Given the description of an element on the screen output the (x, y) to click on. 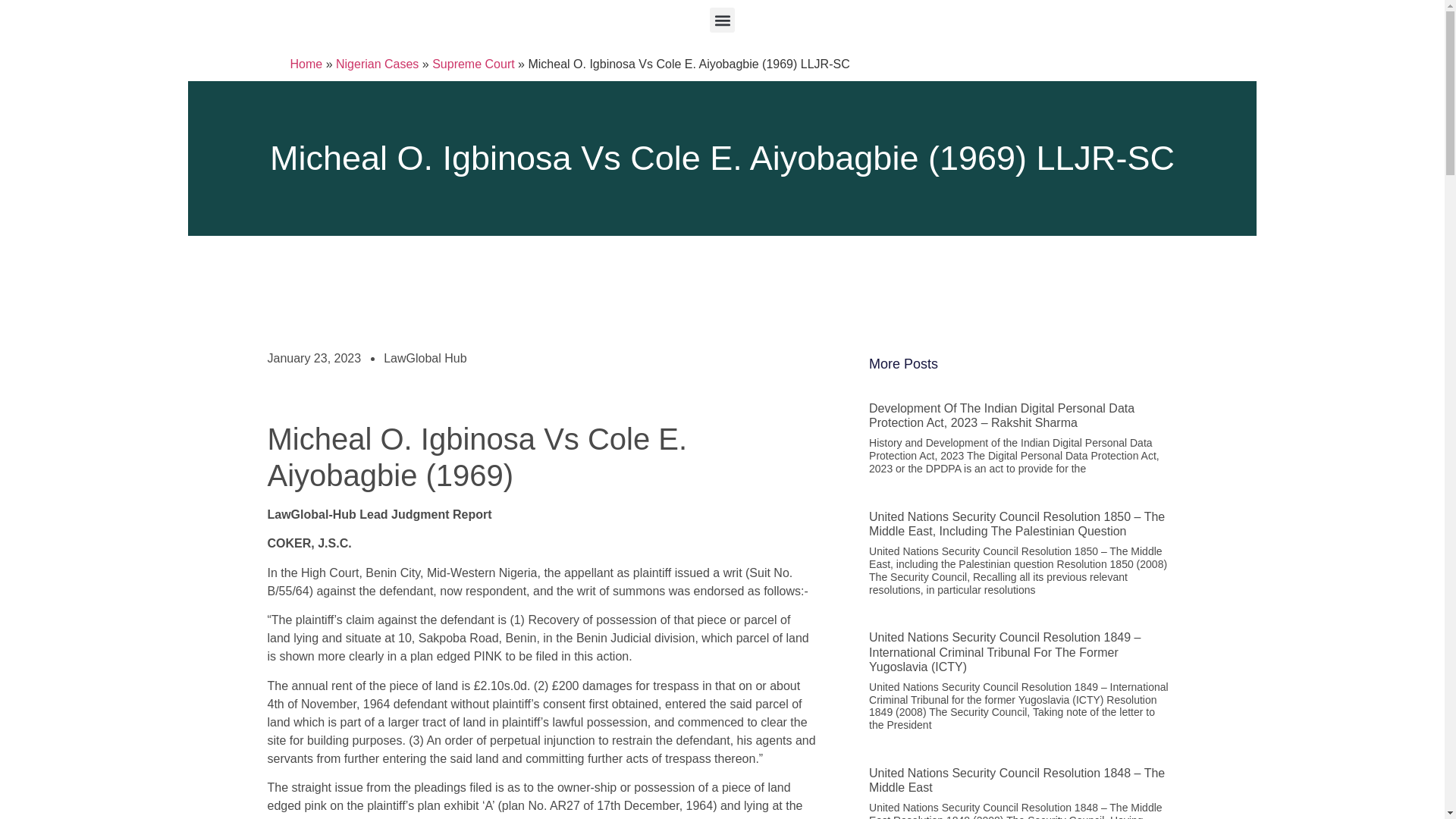
Nigerian Cases (377, 63)
Supreme Court (473, 63)
Home (305, 63)
LawGlobal Hub (424, 358)
January 23, 2023 (313, 358)
